Given the description of an element on the screen output the (x, y) to click on. 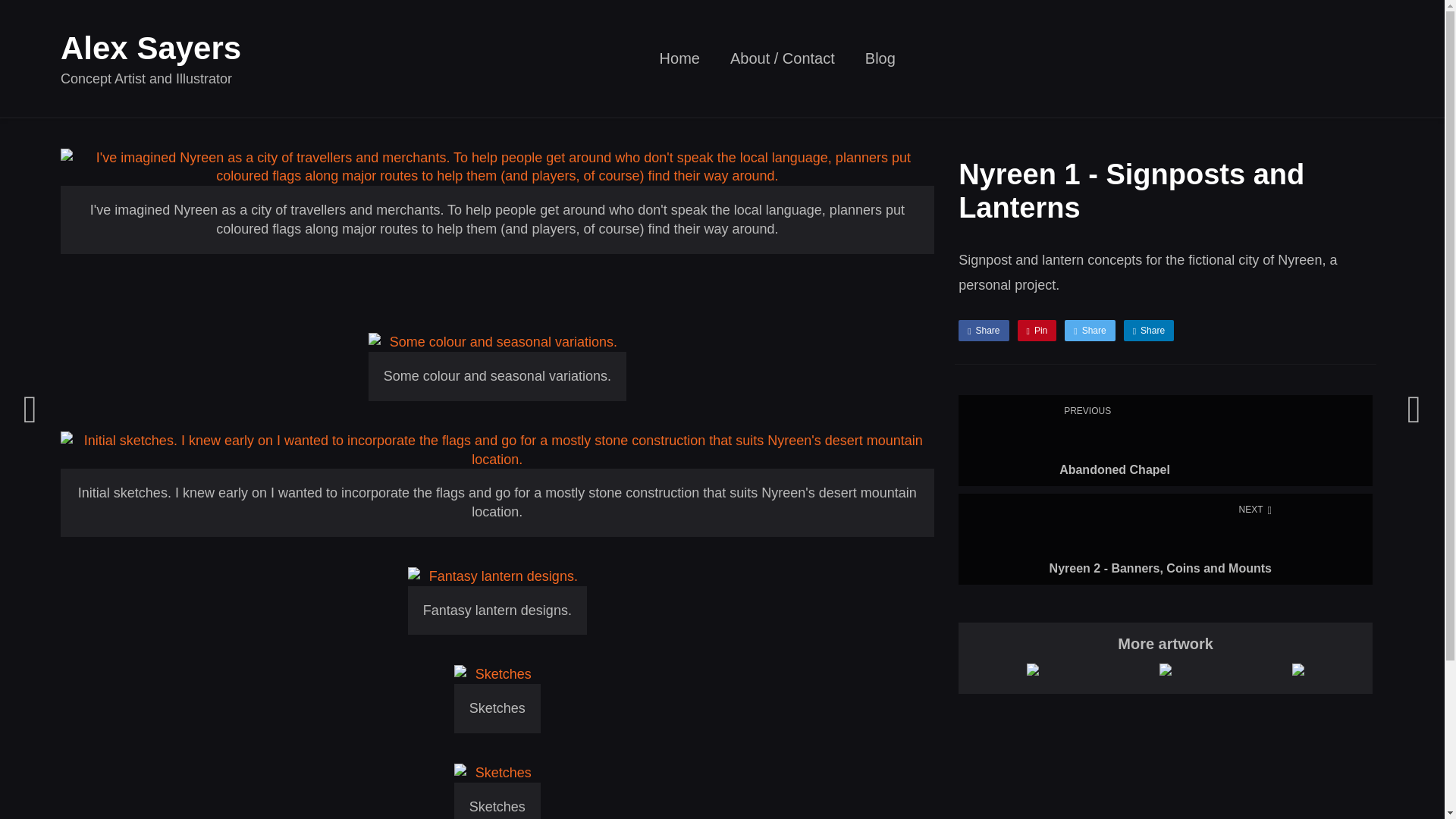
Share (1089, 330)
Share (983, 330)
Home (679, 63)
Blog (1165, 440)
Alex Sayers (879, 63)
Share (151, 48)
Pin (1148, 330)
